Given the description of an element on the screen output the (x, y) to click on. 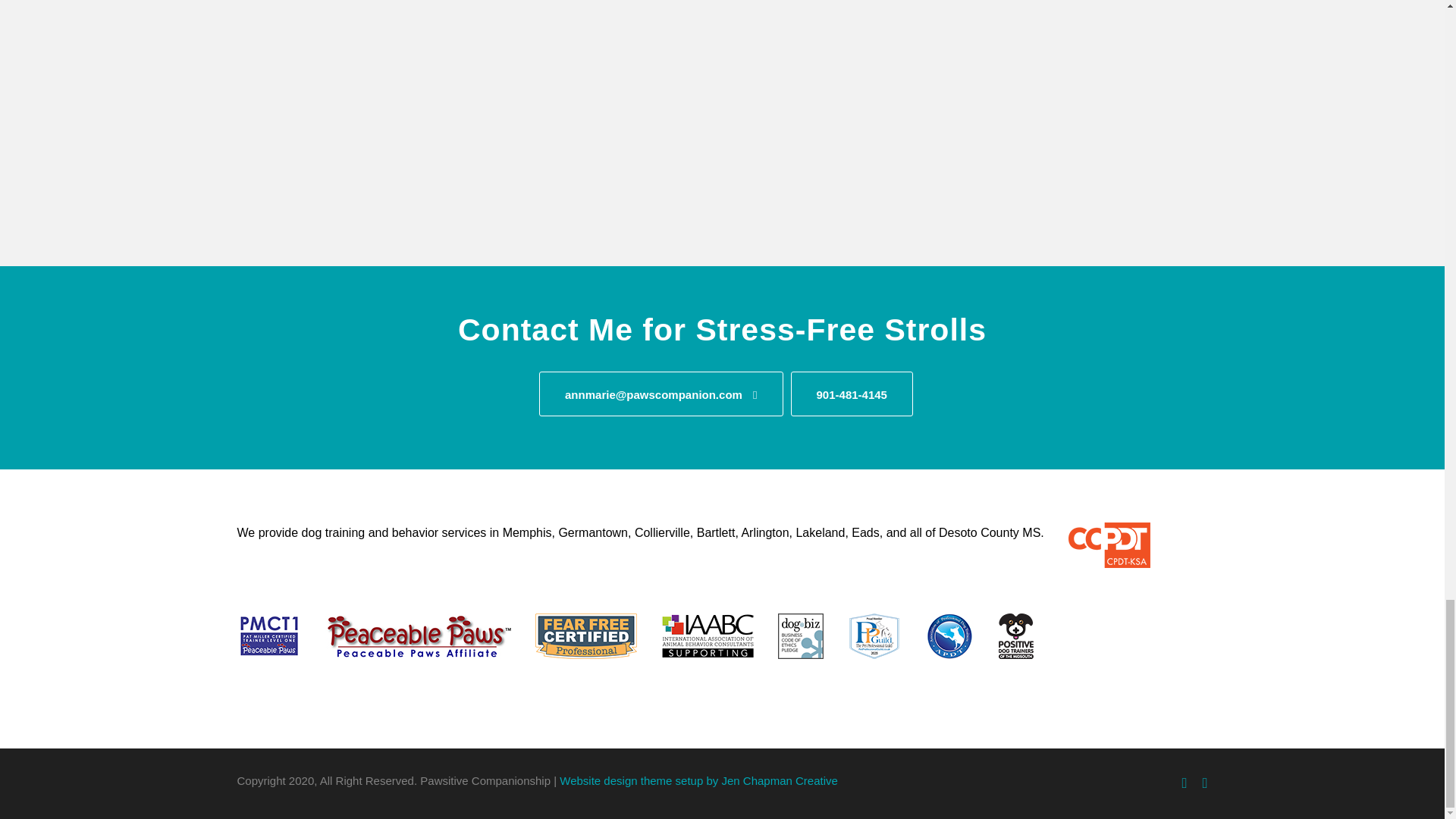
Website design theme setup by Jen Chapman Creative (698, 780)
901-481-4145 (851, 393)
